Given the description of an element on the screen output the (x, y) to click on. 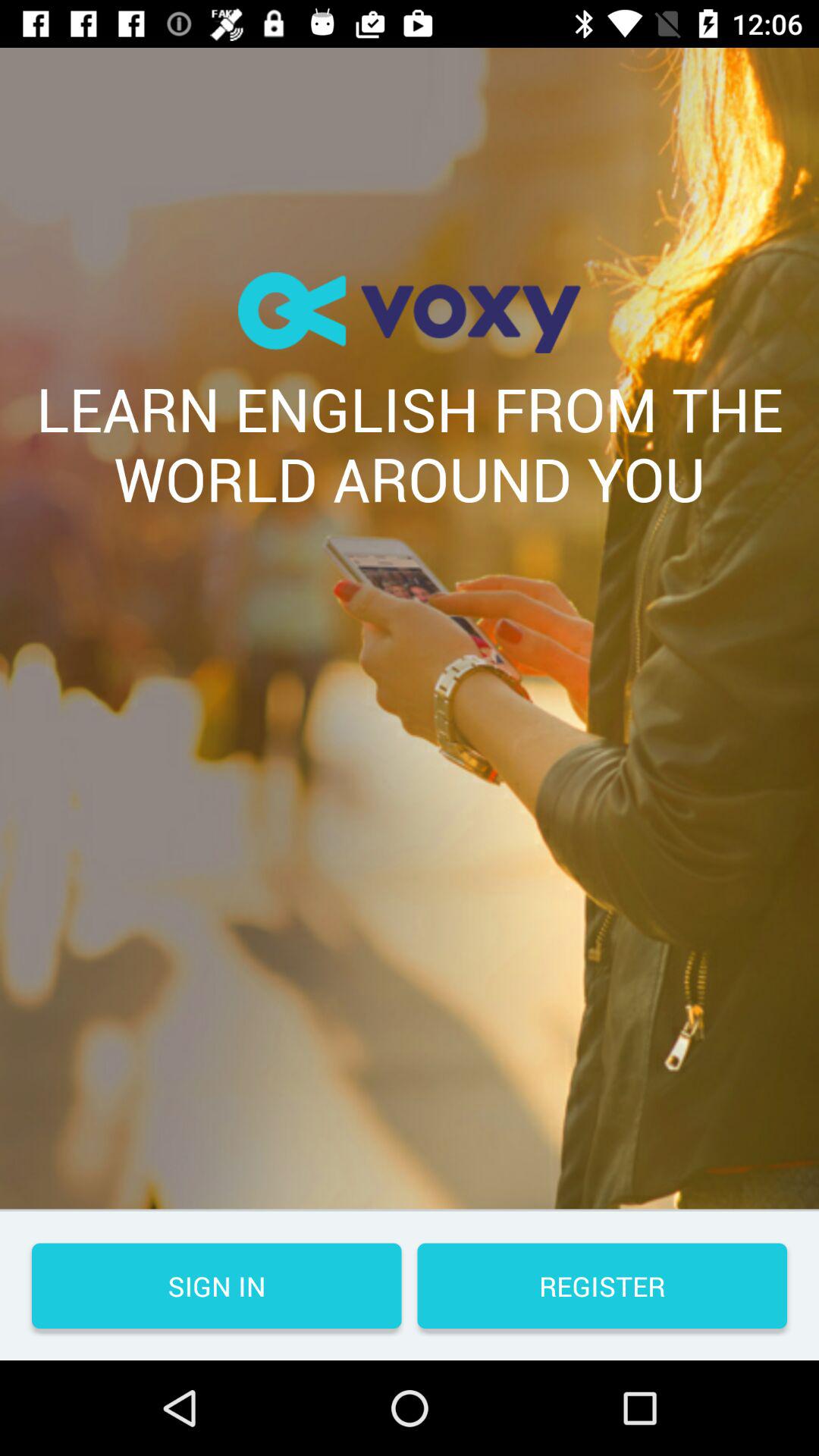
choose the register icon (602, 1285)
